Given the description of an element on the screen output the (x, y) to click on. 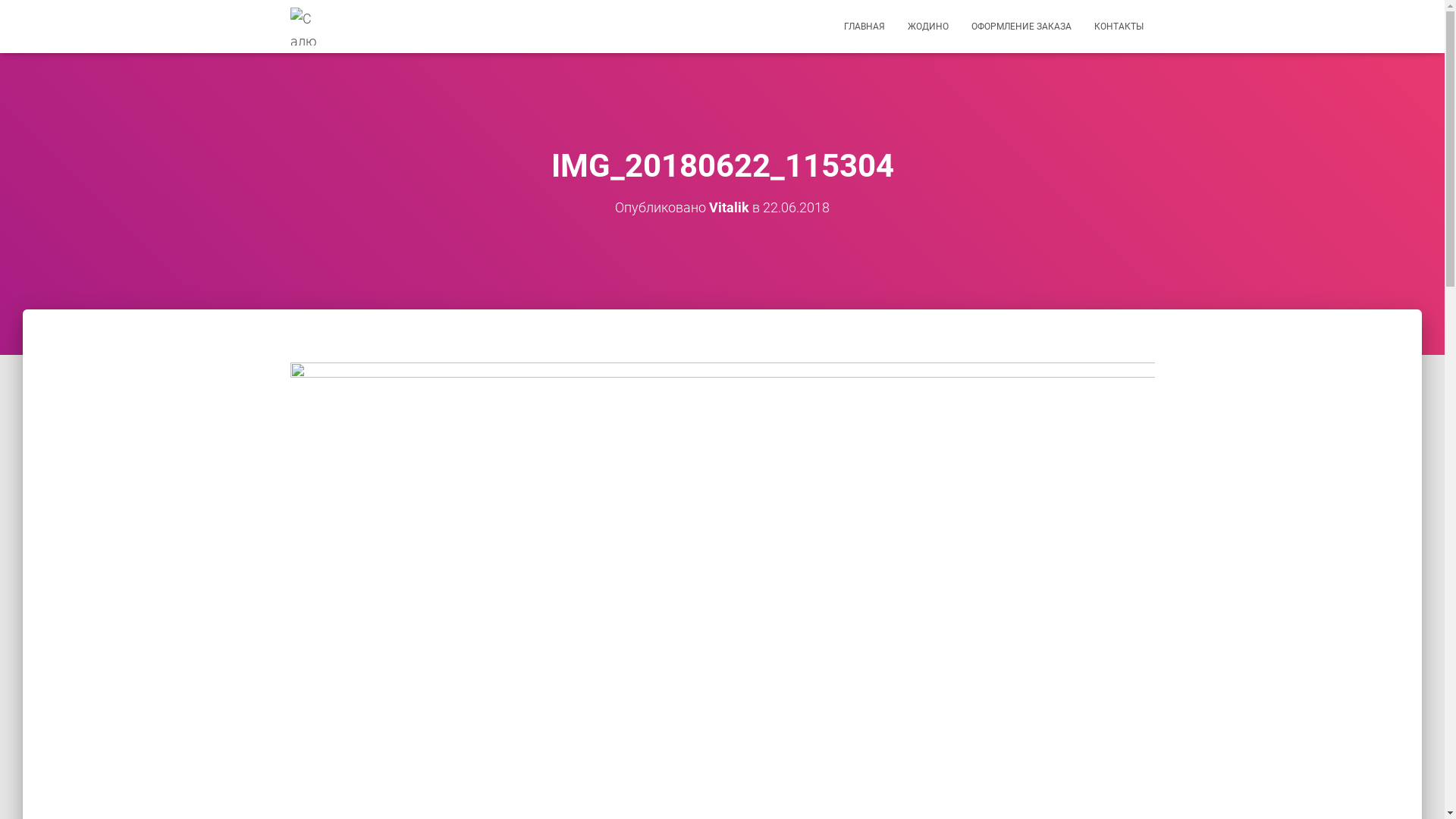
Vitalik Element type: text (729, 207)
